Given the description of an element on the screen output the (x, y) to click on. 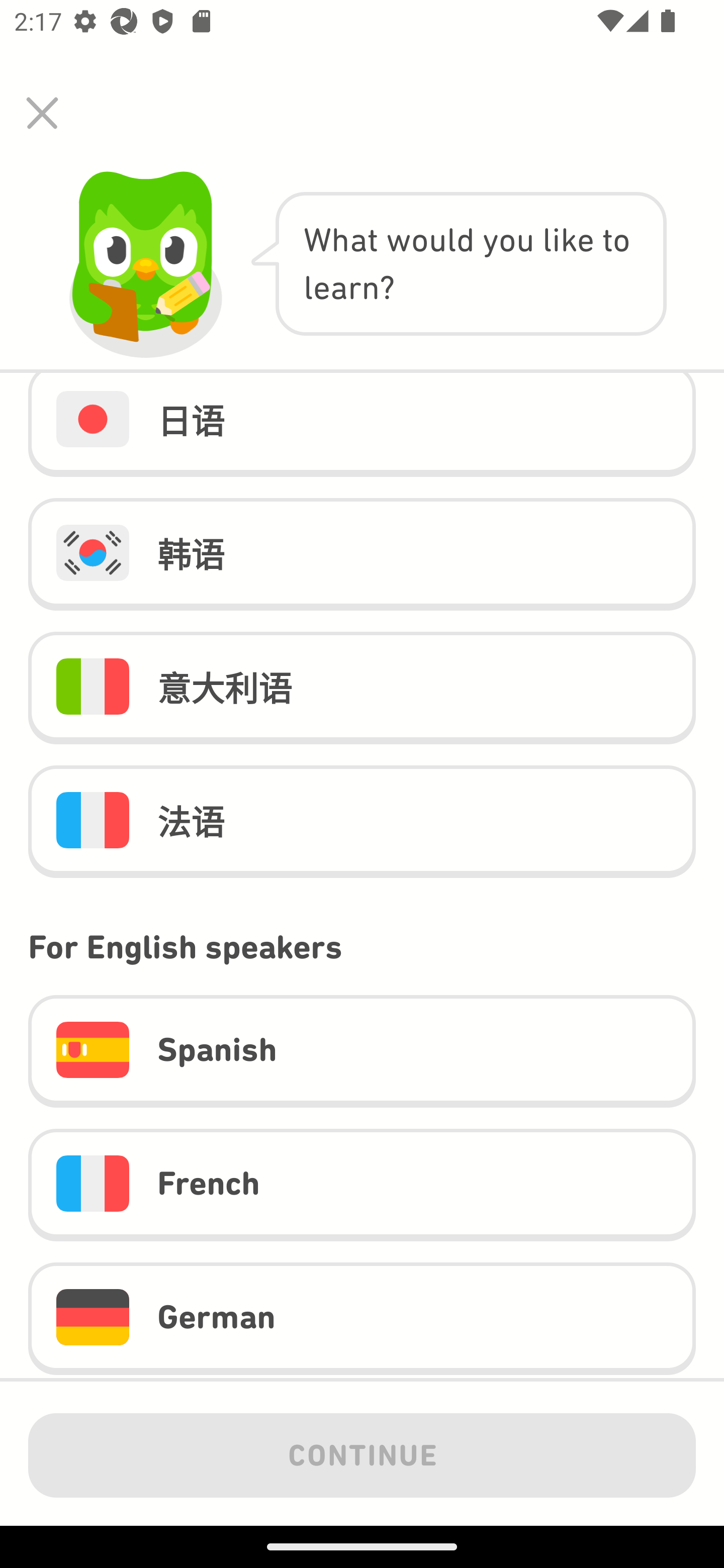
Close Page (41, 112)
日语 (361, 424)
韩语 (361, 553)
意大利语 (361, 687)
法语 (361, 821)
For English speakers (361, 946)
Spanish (361, 1051)
French (361, 1184)
German (361, 1318)
